Given the description of an element on the screen output the (x, y) to click on. 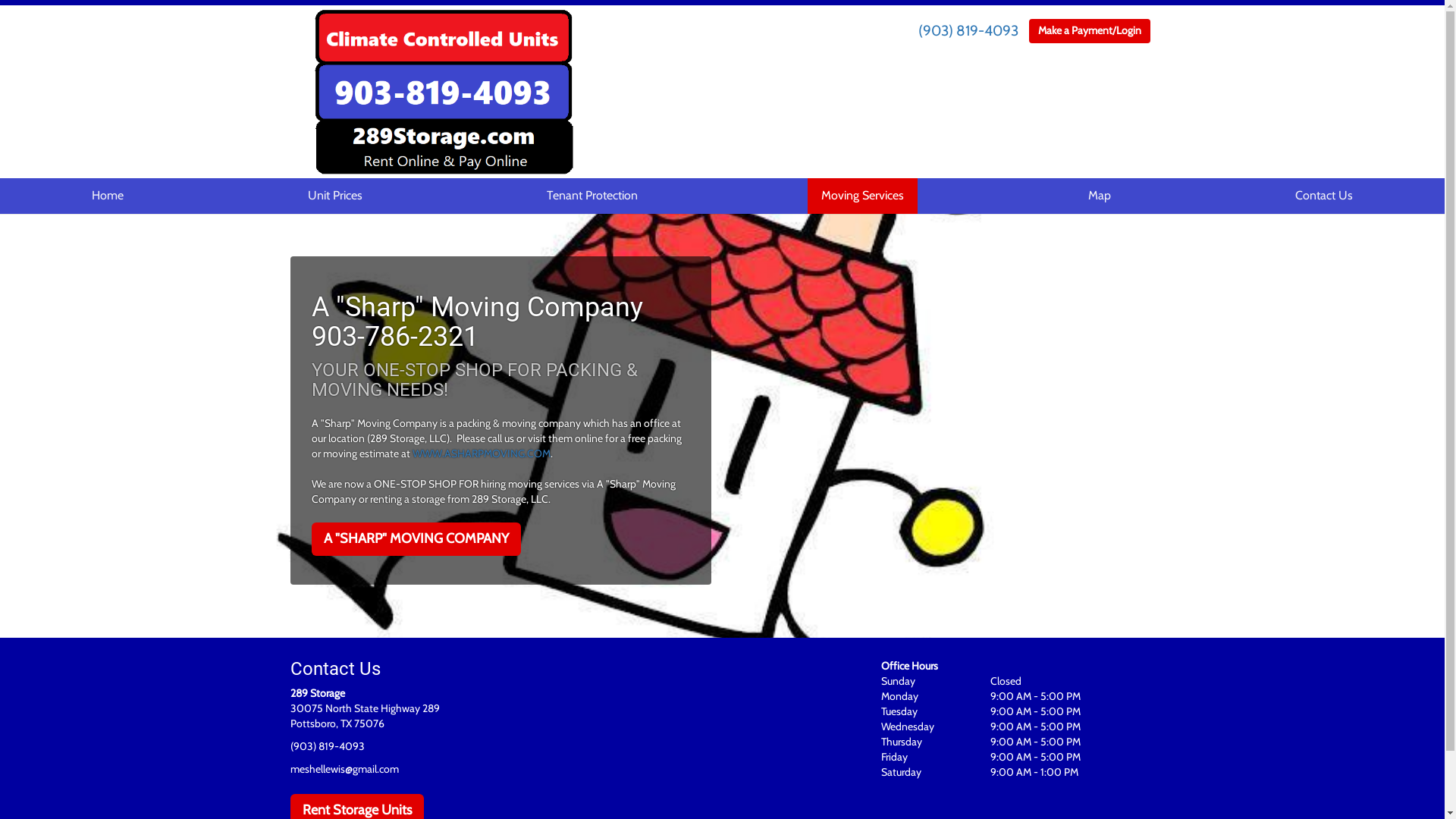
A "SHARP" MOVING COMPANY Element type: text (415, 538)
Moving Services Element type: text (862, 195)
WWW.ASHARPMOVING.COM Element type: text (481, 453)
Contact Us Element type: text (1323, 195)
Make a Payment/Login Element type: text (1089, 30)
Map Element type: text (1099, 195)
Home Element type: text (107, 195)
(903) 819-4093 Element type: text (968, 30)
(903) 819-4093 Element type: text (326, 746)
Tenant Protection Element type: text (592, 195)
Unit Prices Element type: text (335, 195)
meshellewis@gmail.com Element type: text (343, 768)
